Given the description of an element on the screen output the (x, y) to click on. 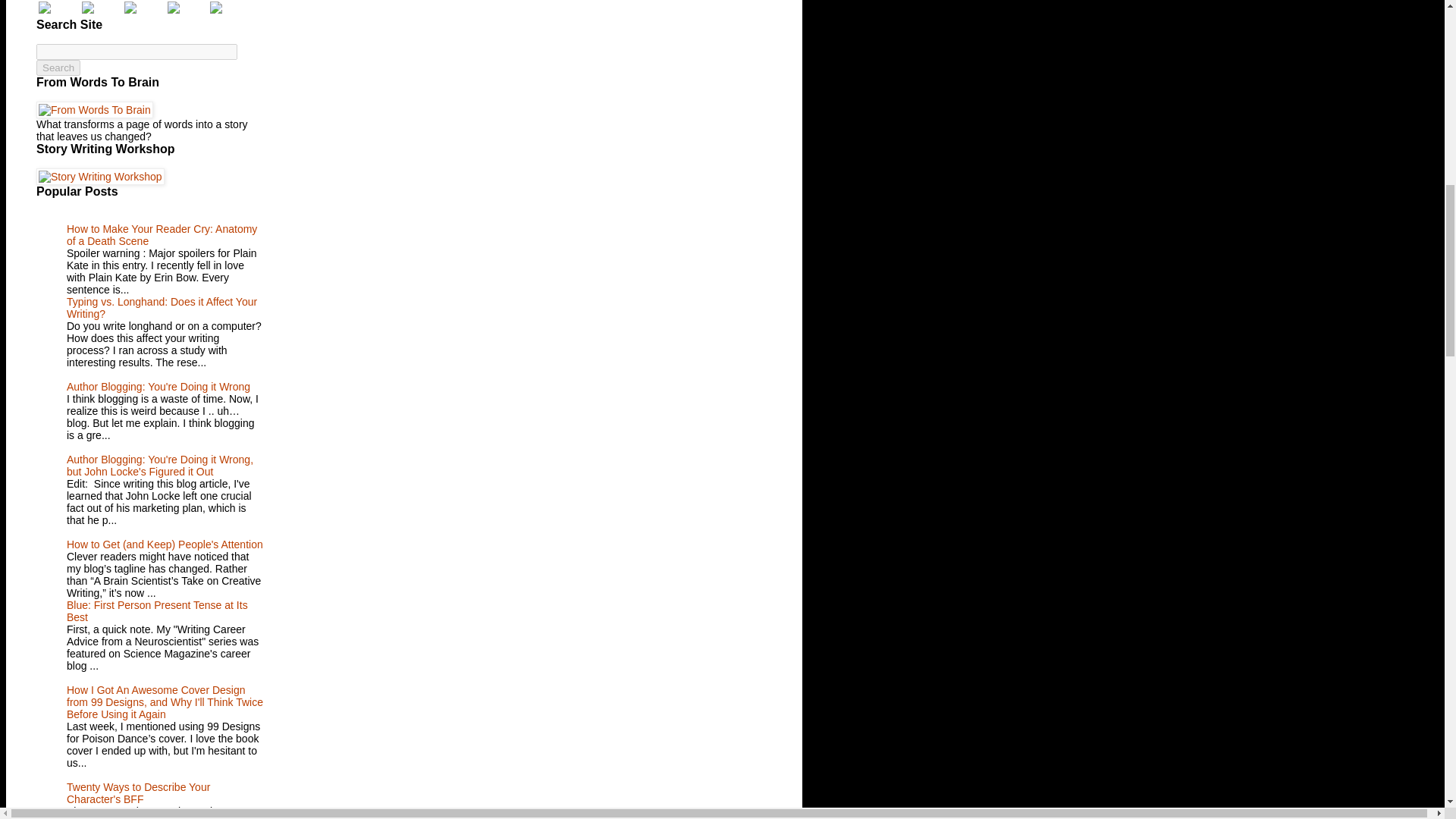
Search (58, 67)
Author Blogging: You're Doing it Wrong (158, 386)
Typing vs. Longhand: Does it Affect Your Writing? (161, 307)
Search (58, 67)
How to Make Your Reader Cry: Anatomy of a Death Scene (161, 234)
